Given the description of an element on the screen output the (x, y) to click on. 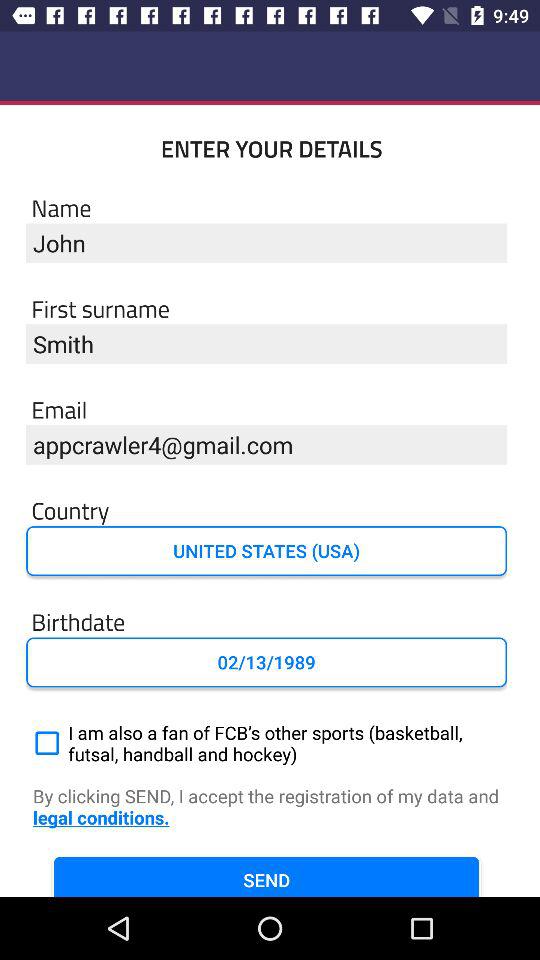
flip until john item (266, 242)
